Given the description of an element on the screen output the (x, y) to click on. 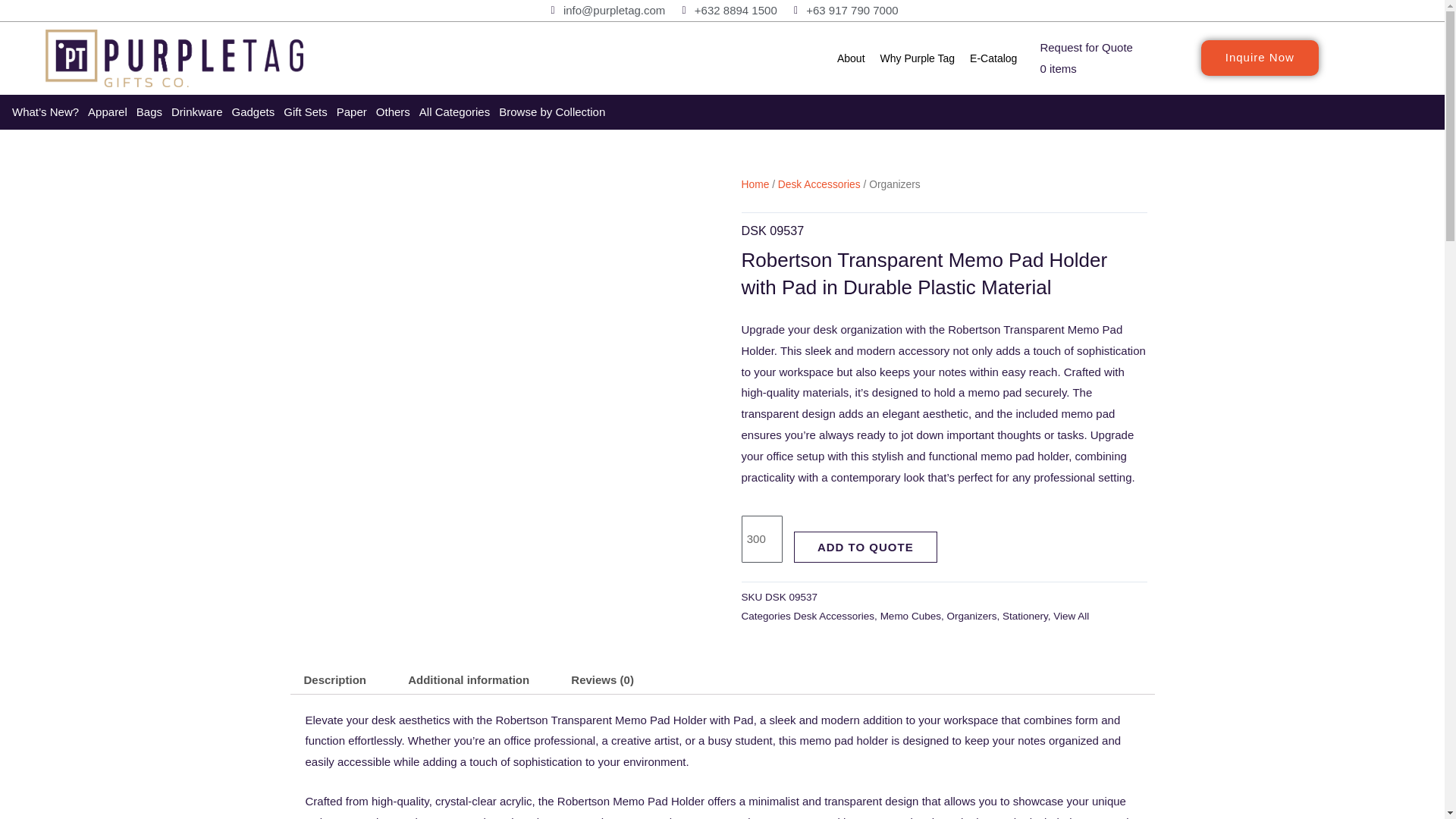
Why Purple Tag (917, 58)
Inquire Now (1260, 58)
0 items (1057, 68)
About (850, 58)
Drinkware (197, 112)
Gadgets (253, 112)
Bags (149, 112)
Apparel (107, 112)
Request for Quote (1085, 47)
E-Catalog (993, 58)
